Given the description of an element on the screen output the (x, y) to click on. 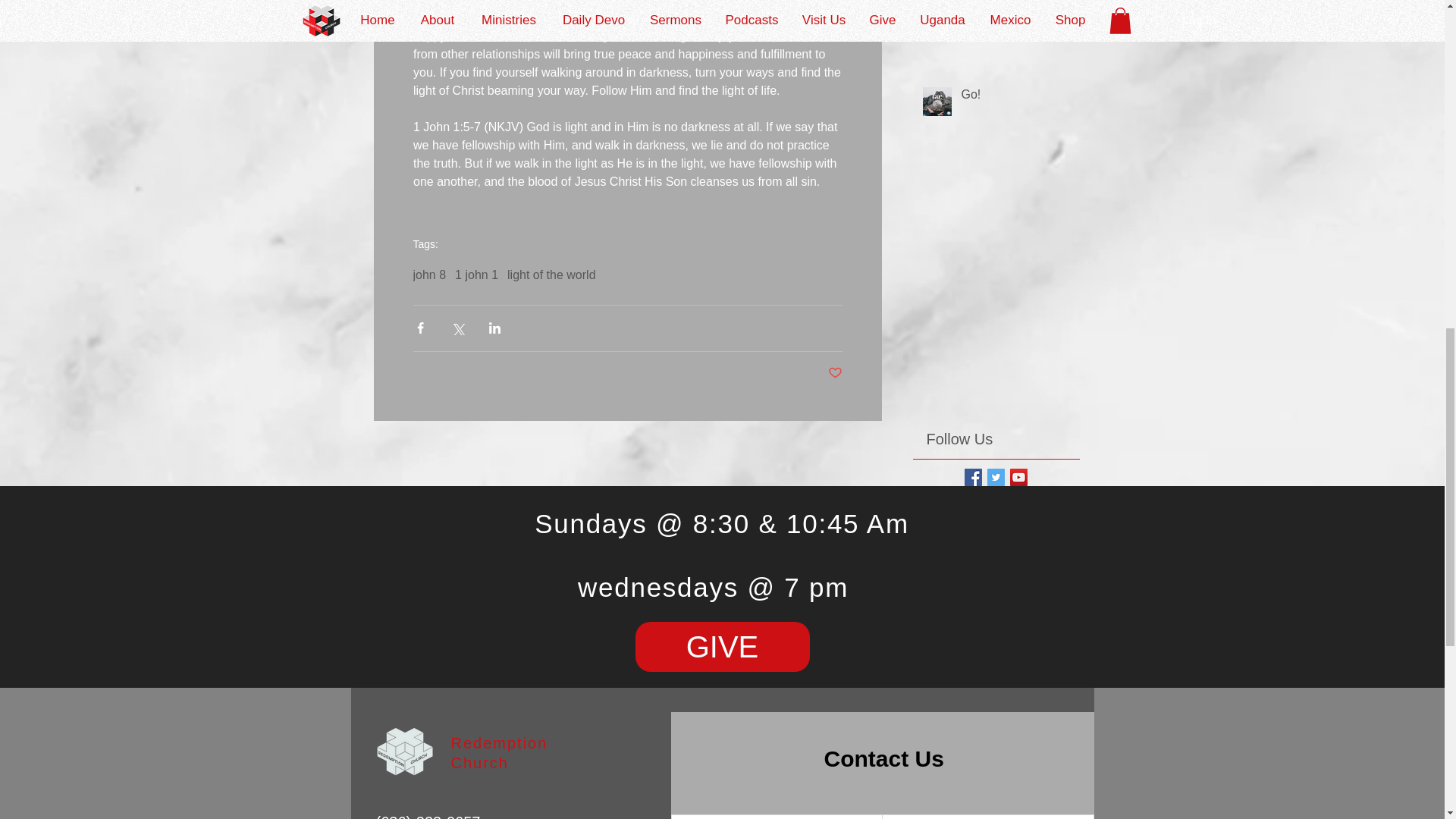
john 8 (428, 274)
Believe in Jesus (1015, 9)
1 john 1 (475, 274)
Post not marked as liked (835, 373)
Go! (1015, 97)
GIVE (721, 646)
light of the world (550, 274)
